Given the description of an element on the screen output the (x, y) to click on. 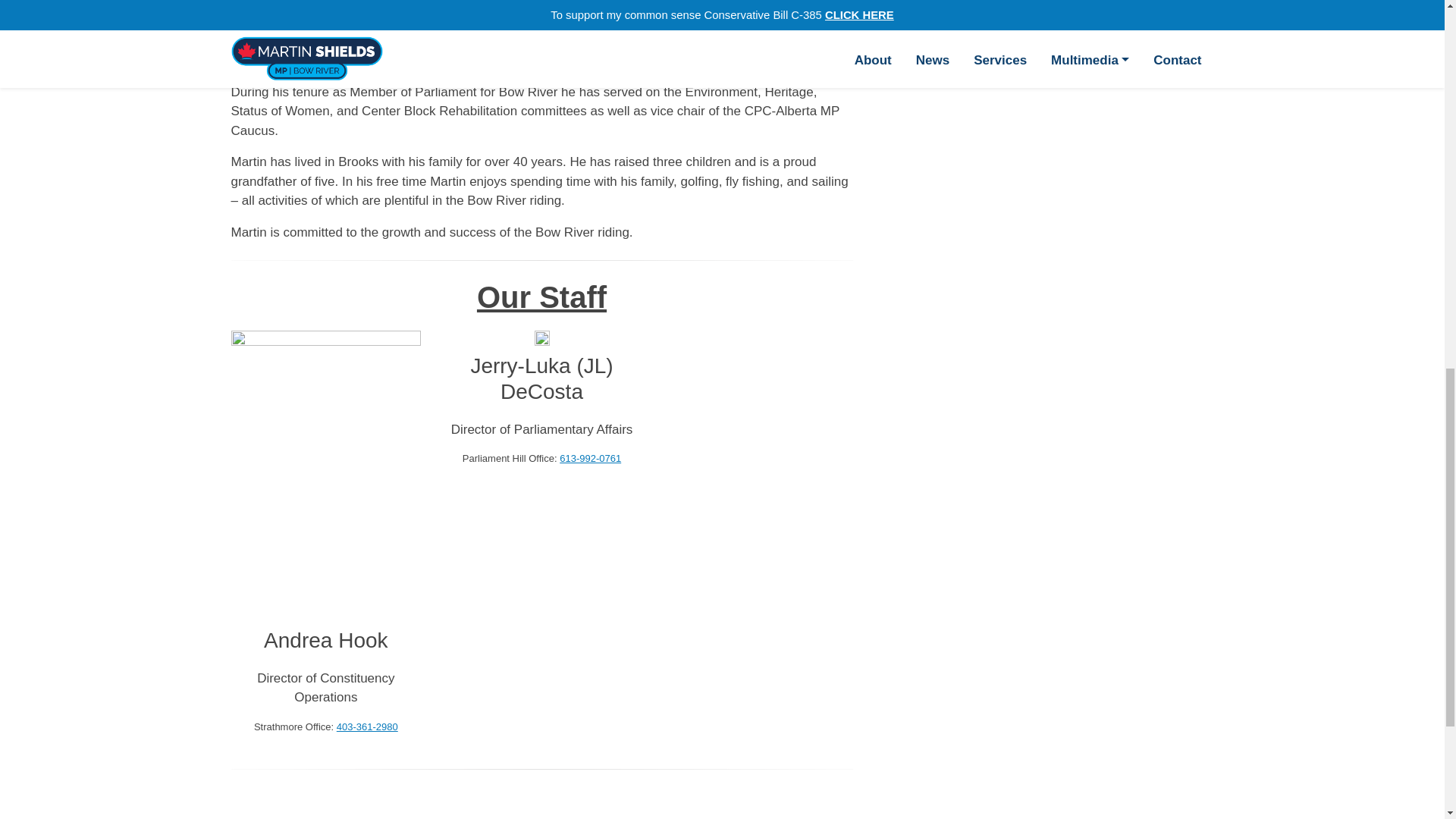
613-992-0761 (590, 458)
403-361-2980 (366, 726)
